Given the description of an element on the screen output the (x, y) to click on. 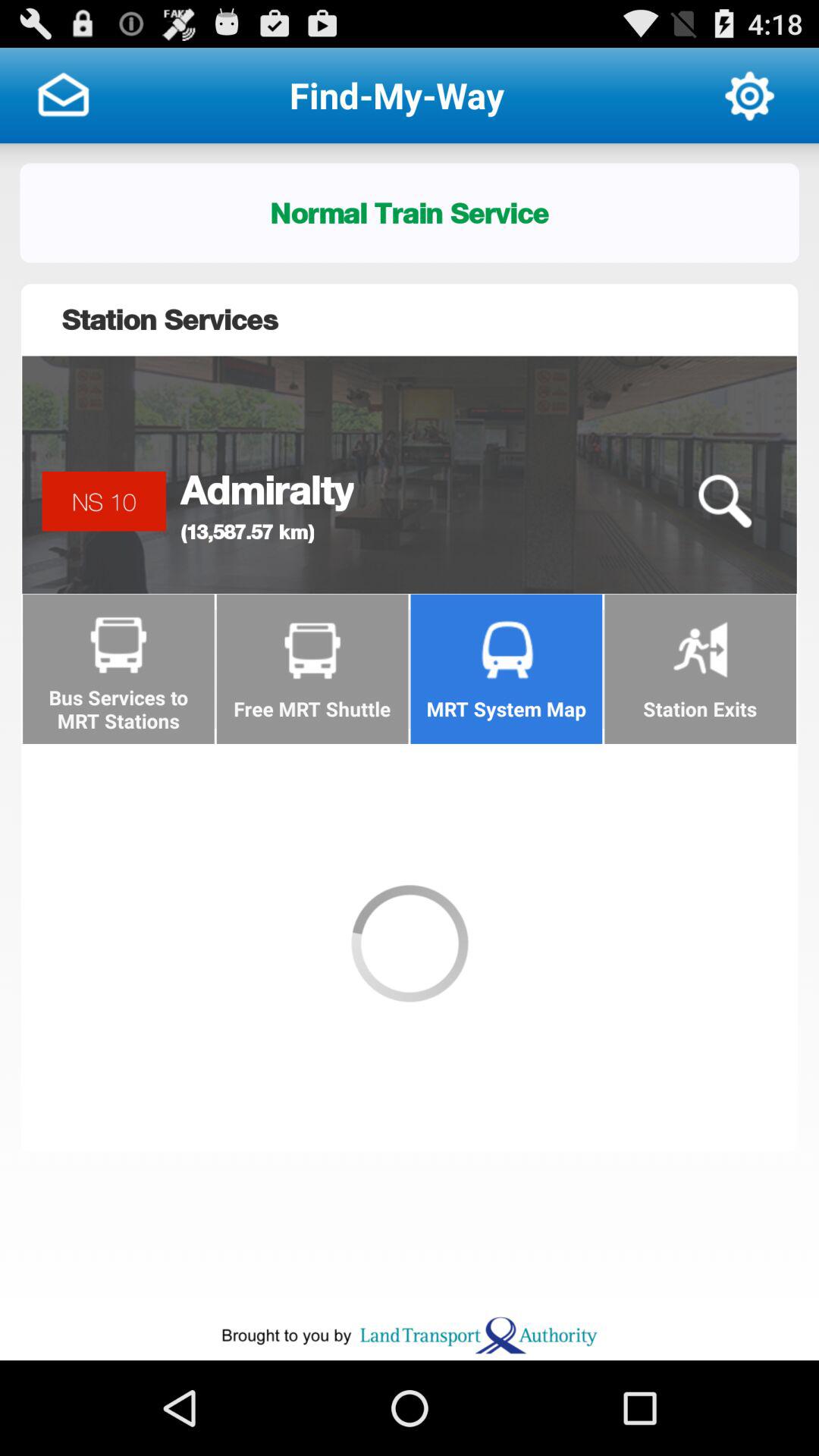
tap app next to the admiralty app (724, 501)
